Given the description of an element on the screen output the (x, y) to click on. 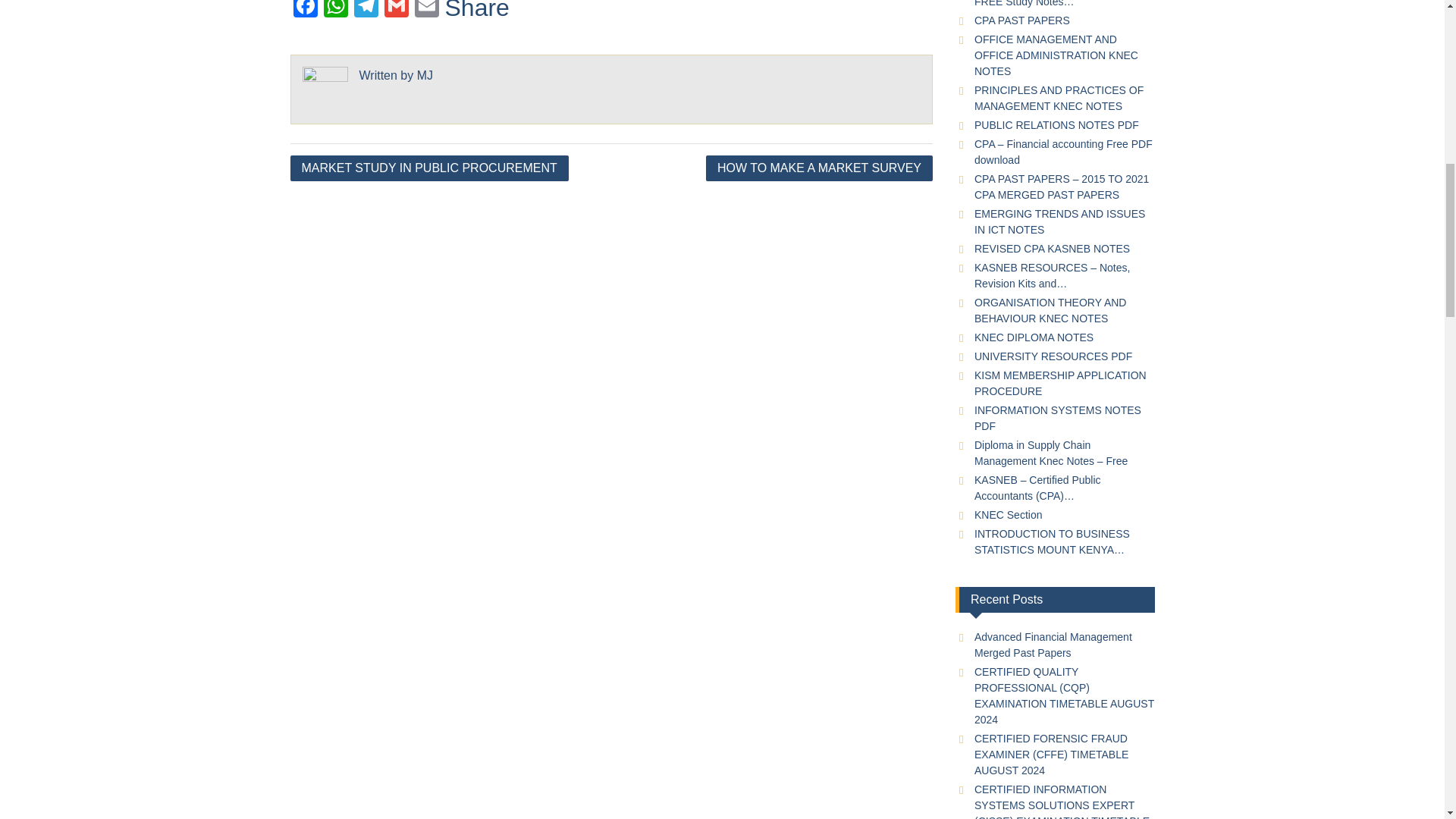
MARKET STUDY IN PUBLIC PROCUREMENT (428, 167)
Email (425, 10)
Facebook (304, 10)
CPA PAST PAPERS (1022, 20)
Share (476, 9)
WhatsApp (335, 10)
Email (425, 10)
Telegram (365, 10)
HOW TO MAKE A MARKET SURVEY (819, 167)
PRINCIPLES AND PRACTICES OF MANAGEMENT KNEC NOTES (1058, 98)
